Given the description of an element on the screen output the (x, y) to click on. 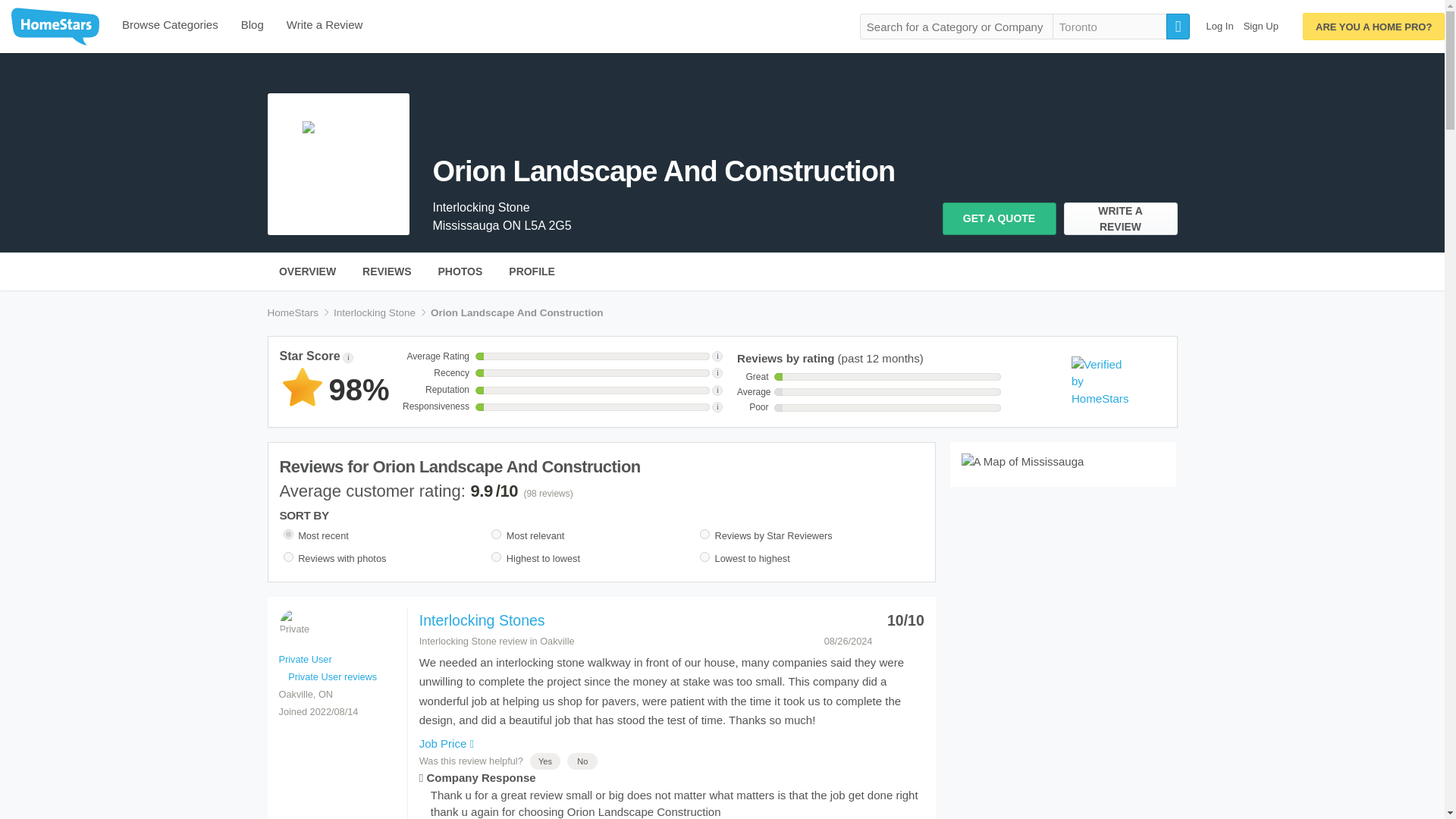
Sign Up (1260, 25)
Log In (1220, 25)
OVERVIEW (306, 271)
Orion Landscape And Construction (687, 177)
recent (288, 533)
HomeStars (292, 312)
PHOTOS (460, 271)
No (582, 760)
PROFILE (532, 271)
REVIEWS (387, 271)
